Given the description of an element on the screen output the (x, y) to click on. 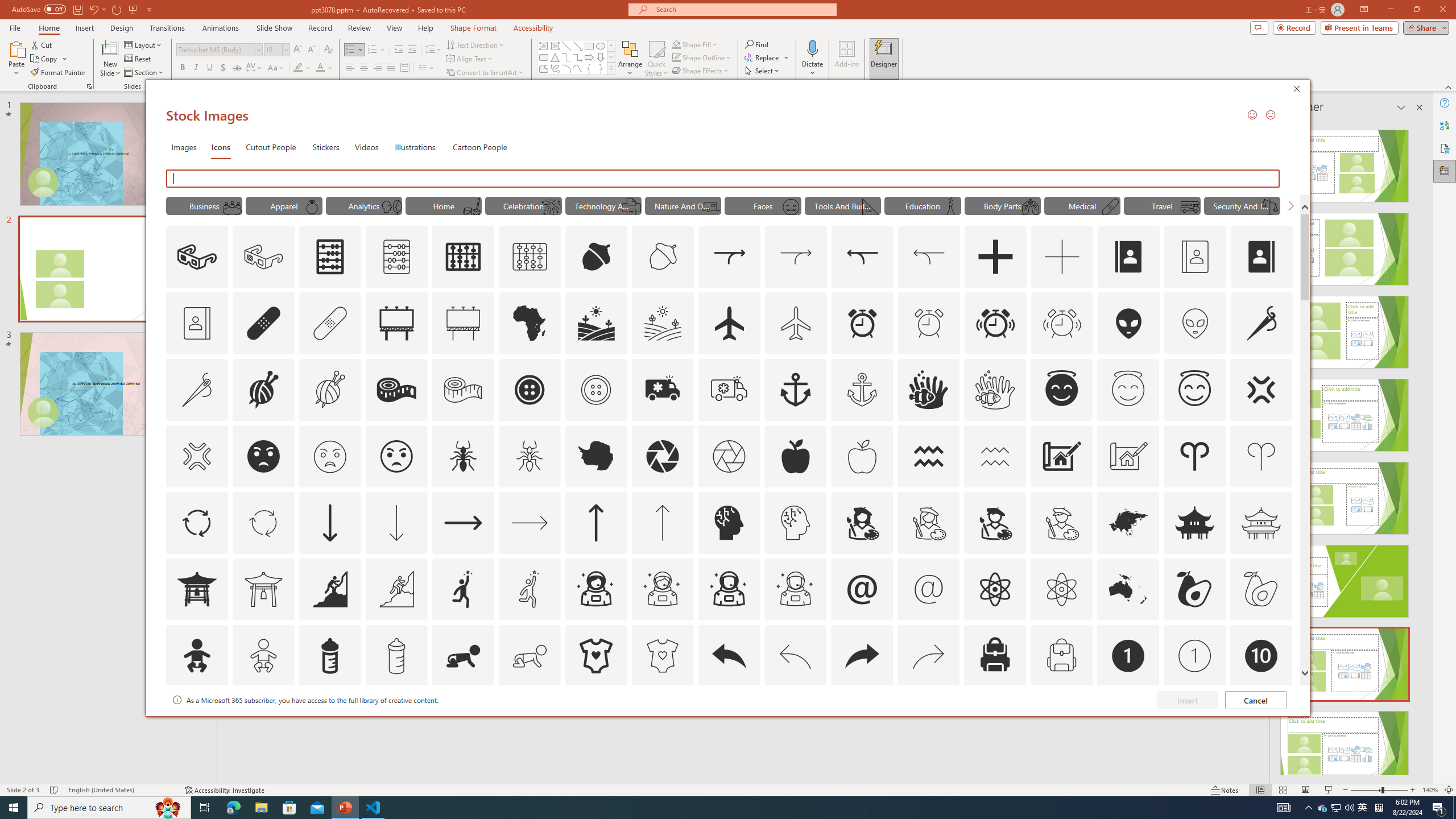
AutomationID: Icons_AlarmClock_M (928, 323)
Shape Outline (701, 56)
AutomationID: Icons_Back_RTL (861, 655)
Illustrations (415, 146)
